Given the description of an element on the screen output the (x, y) to click on. 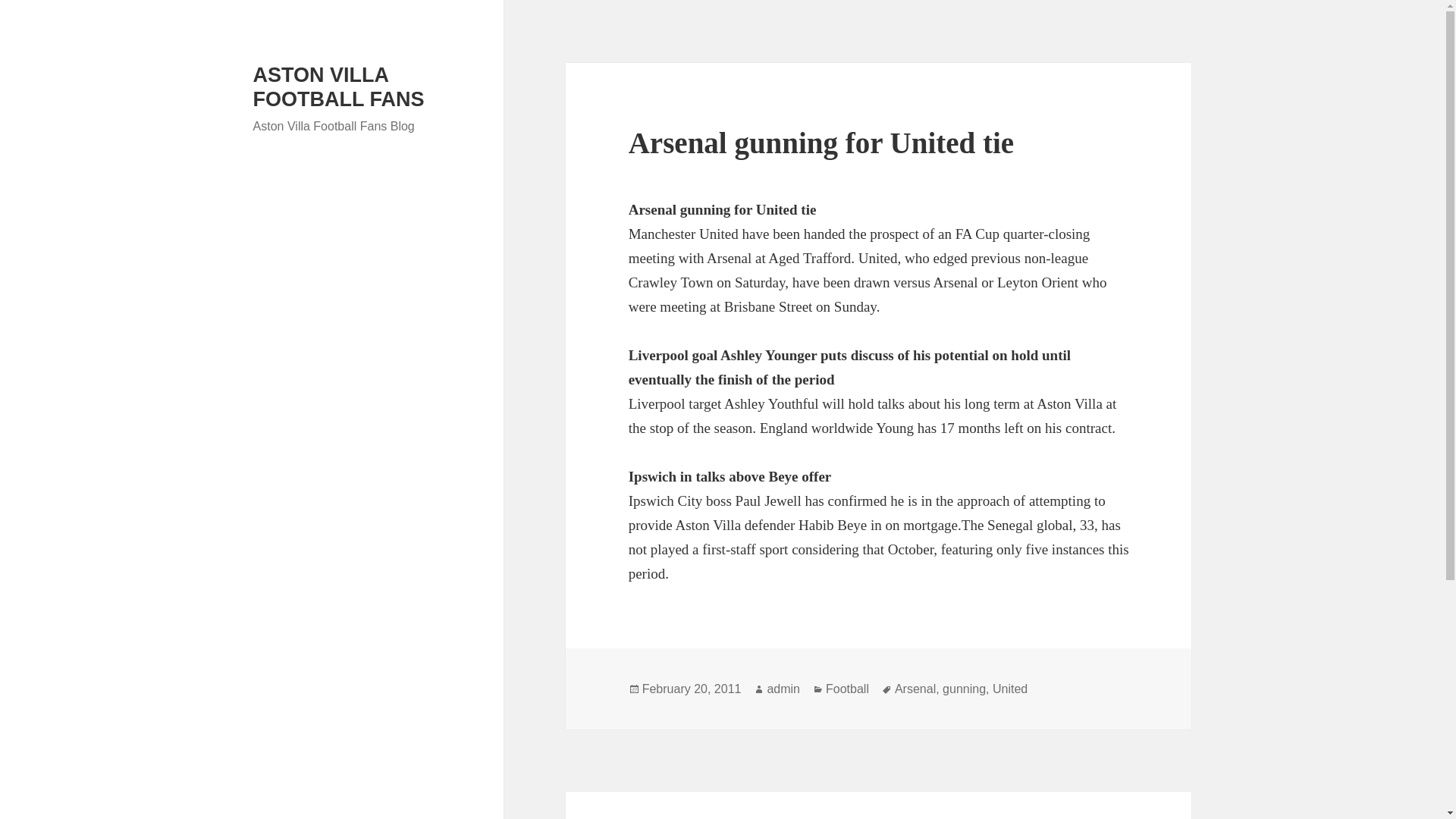
admin (783, 689)
Football (847, 689)
United (1009, 689)
Arsenal (915, 689)
ASTON VILLA FOOTBALL FANS (339, 86)
February 20, 2011 (691, 689)
gunning (963, 689)
